Given the description of an element on the screen output the (x, y) to click on. 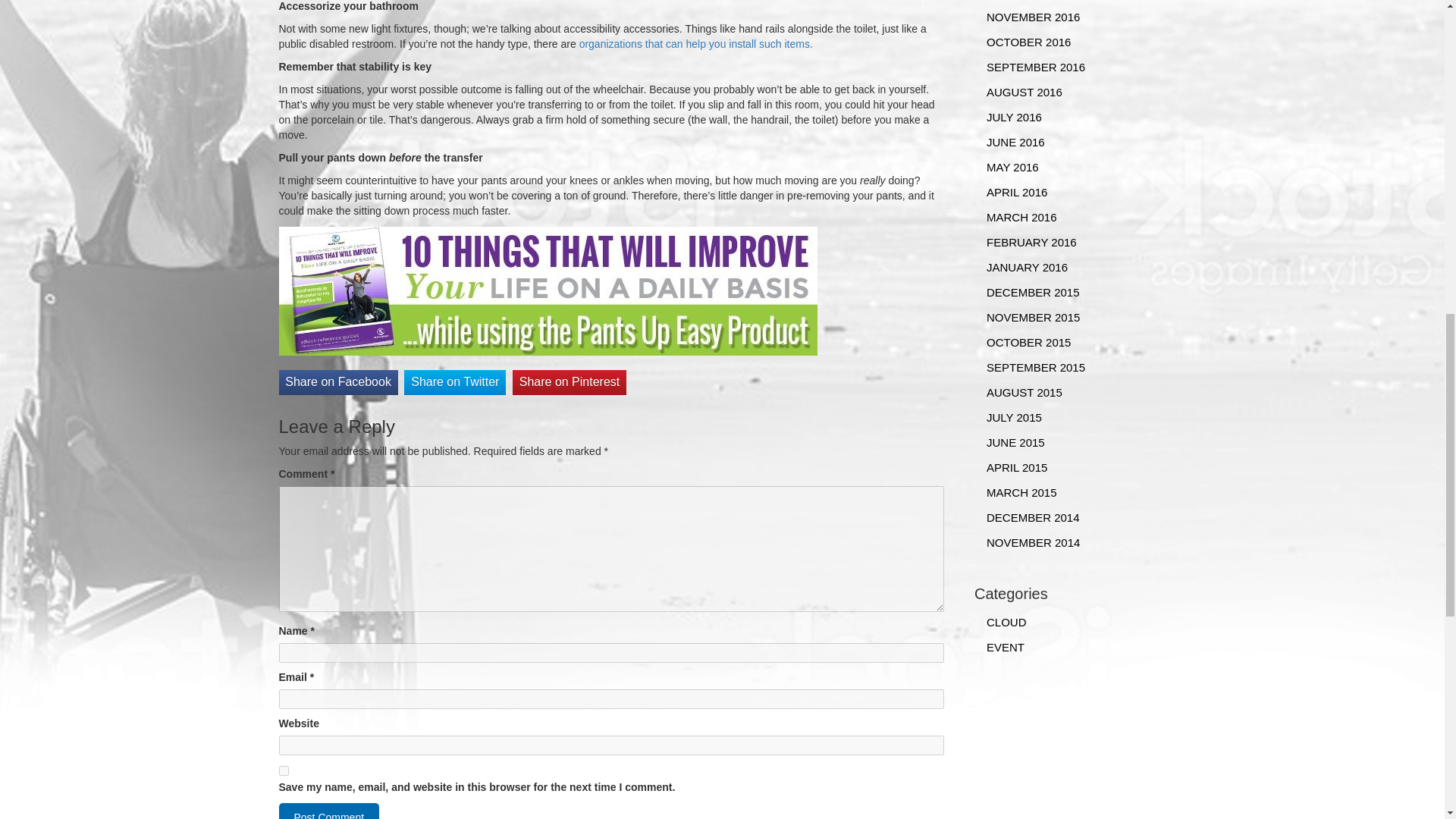
Share on Pinterest (569, 382)
NOVEMBER 2016 (1064, 16)
yes (283, 770)
organizations that can help you install such items. (695, 43)
Share on Twitter (454, 382)
Share on Facebook (338, 382)
Post Comment (329, 811)
DECEMBER 2016 (1064, 2)
JULY 2016 (1064, 116)
Post Comment (329, 811)
